Given the description of an element on the screen output the (x, y) to click on. 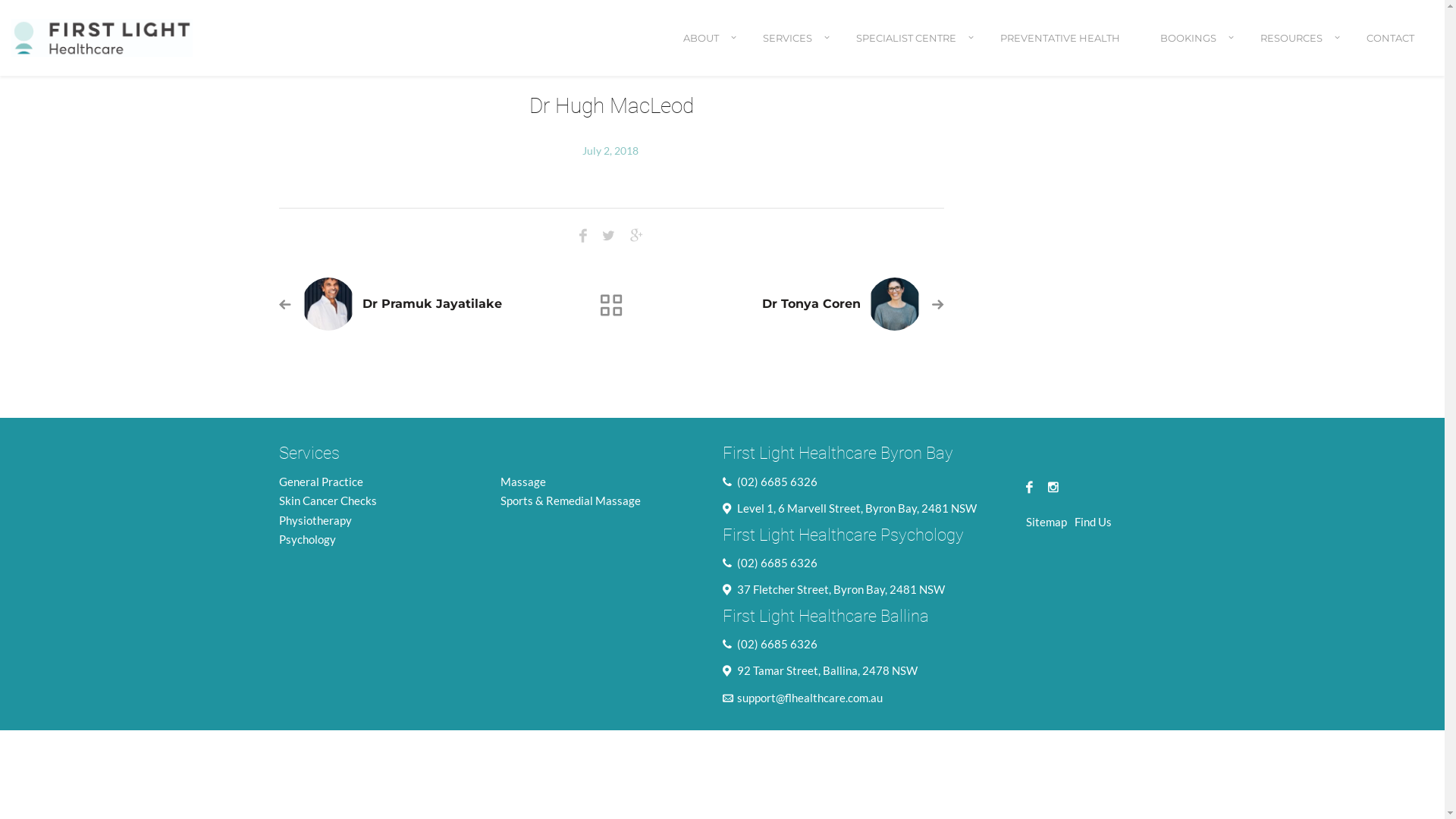
Physiotherapy Element type: text (315, 519)
General Practice Element type: text (321, 481)
July 2, 2018 Element type: text (611, 150)
Sitemap Element type: text (1045, 521)
Facebook Element type: hover (1028, 486)
PREVENTATIVE HEALTH Element type: text (1060, 50)
Massage Element type: text (523, 481)
Dr Pramuk Jayatilake Element type: text (432, 303)
Psychology Element type: text (307, 538)
RESOURCES Element type: text (1293, 50)
Instagram Element type: hover (1049, 486)
Find Us Element type: text (1091, 521)
CONTACT Element type: text (1390, 50)
Skin Cancer Checks Element type: text (327, 500)
BOOKINGS Element type: text (1190, 50)
Dr Tonya Coren Element type: text (811, 303)
ABOUT Element type: text (702, 50)
SERVICES Element type: text (788, 50)
Sports & Remedial Massage Element type: text (570, 500)
SPECIALIST CENTRE Element type: text (908, 50)
